Given the description of an element on the screen output the (x, y) to click on. 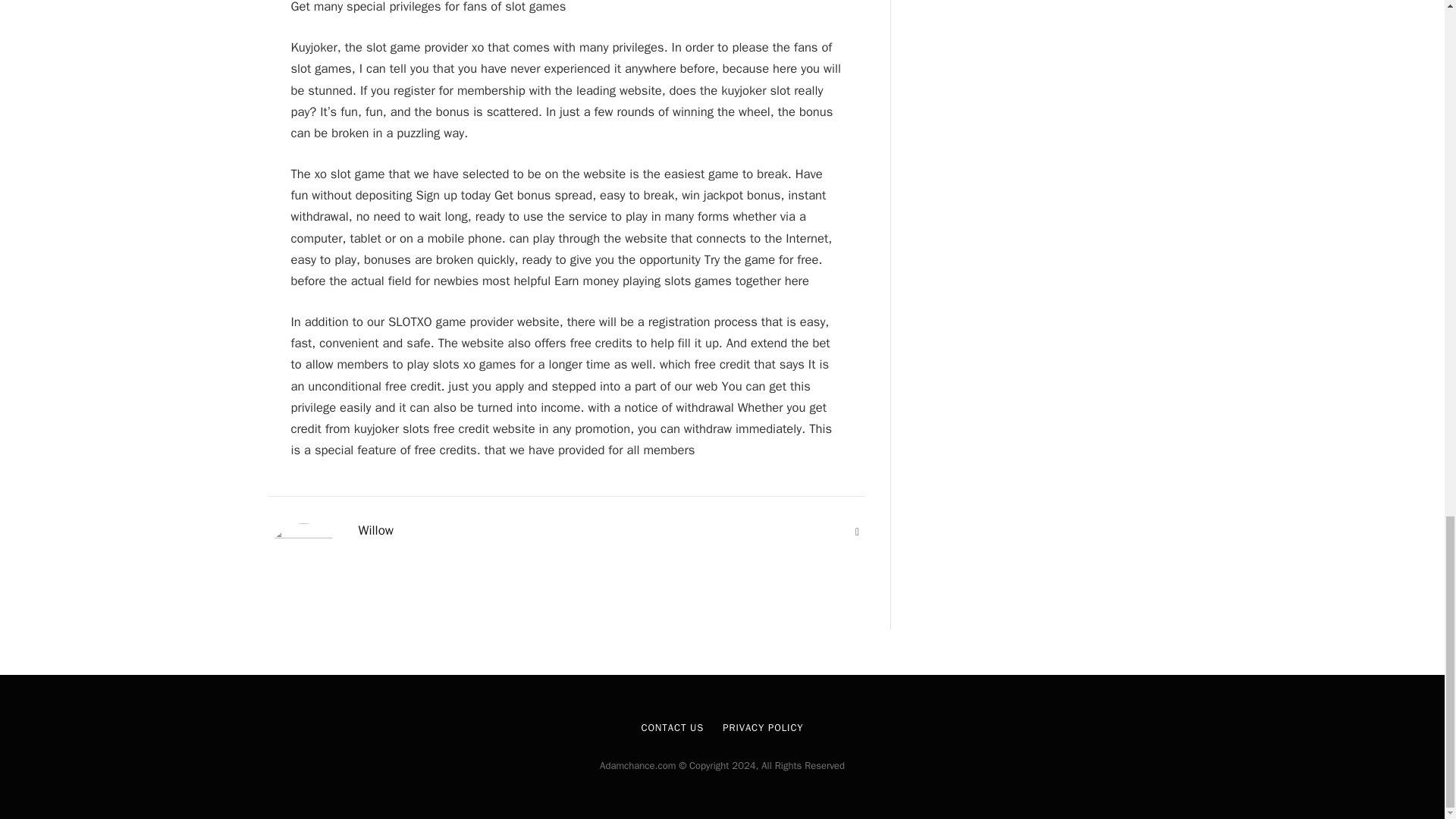
Posts by Willow (375, 530)
Willow (375, 530)
Website (856, 531)
Website (856, 531)
